Given the description of an element on the screen output the (x, y) to click on. 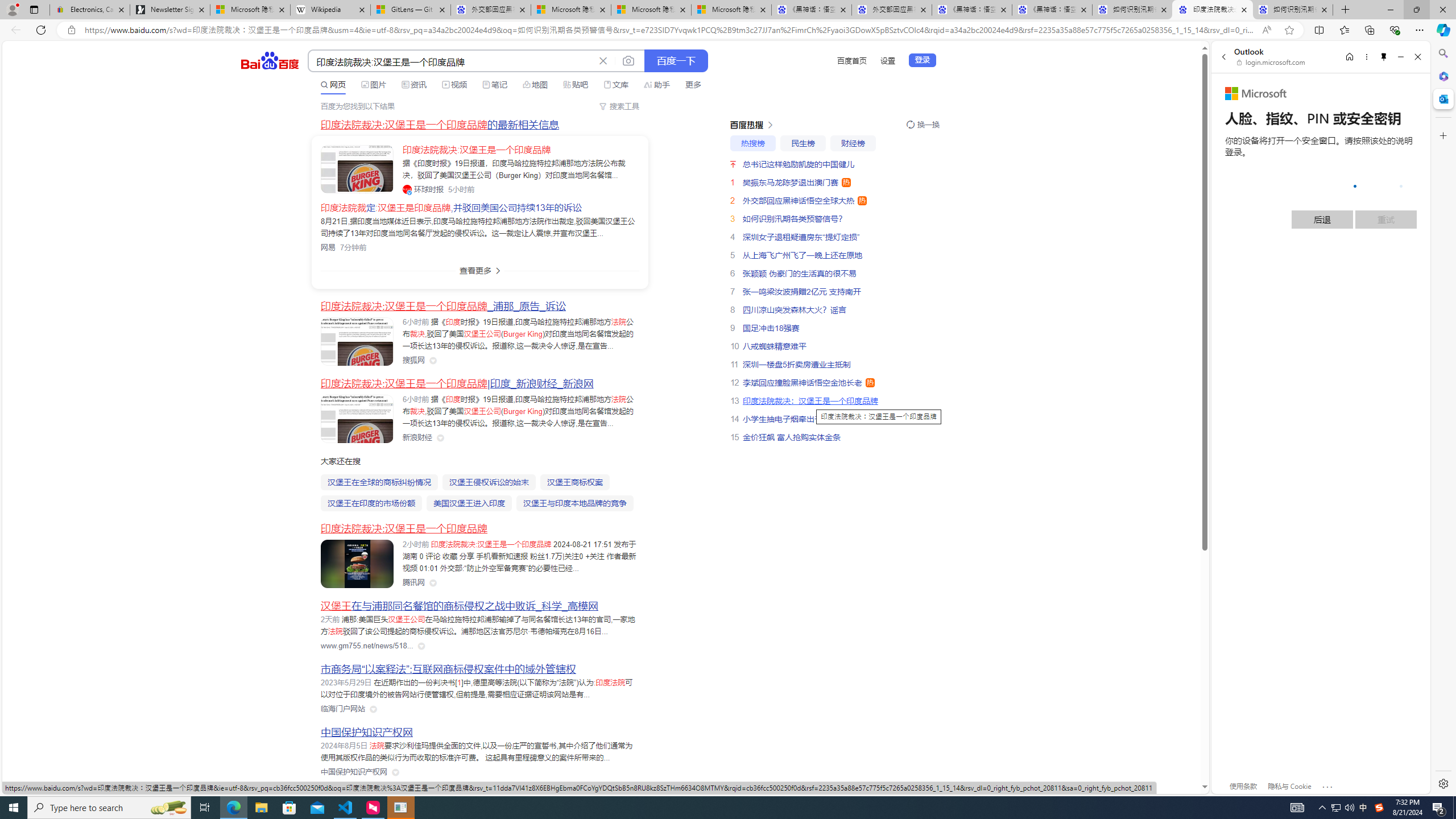
Class: siteLink_9TPP3 (353, 772)
